Given the description of an element on the screen output the (x, y) to click on. 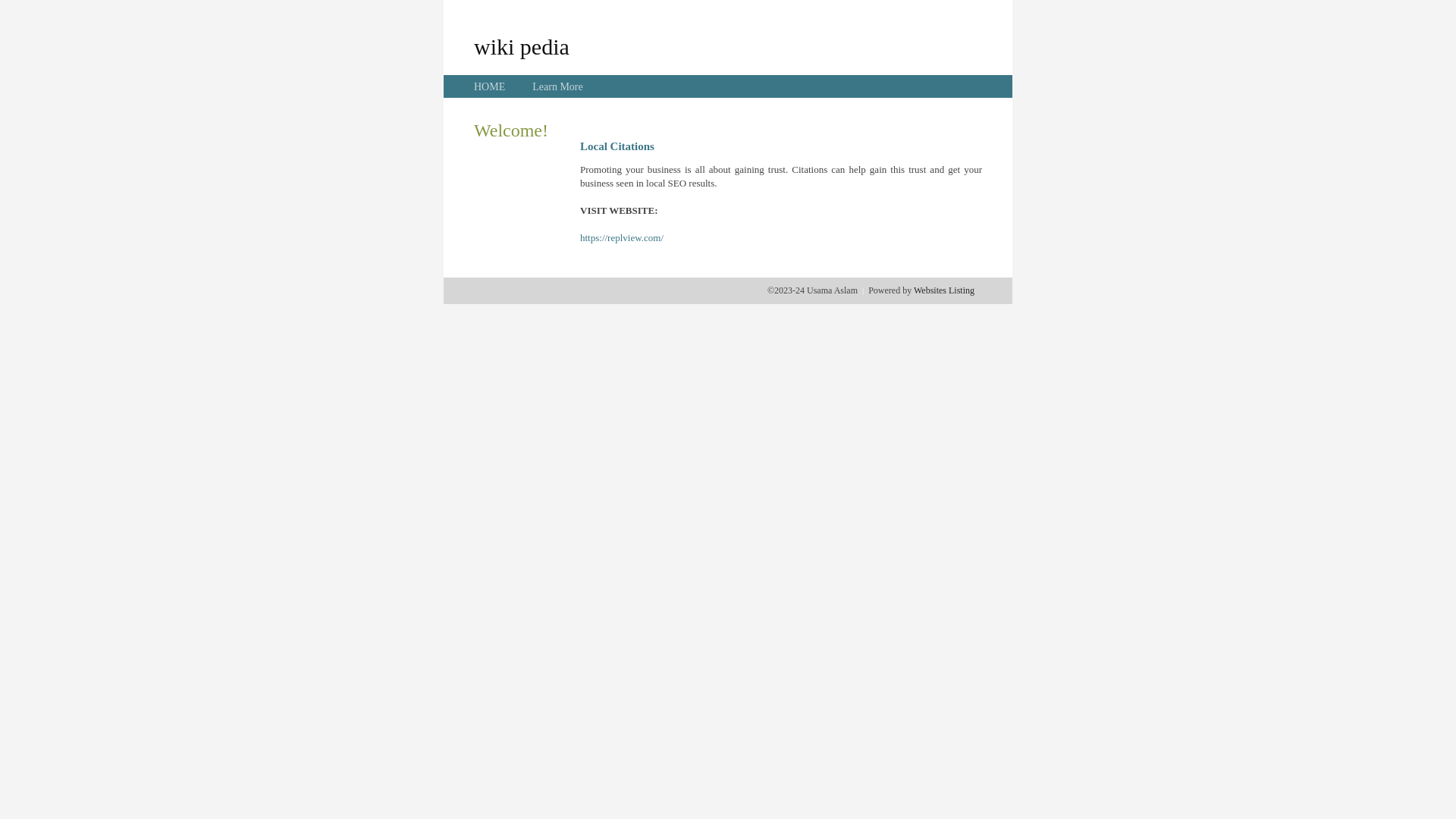
Learn More Element type: text (557, 86)
wiki pedia Element type: text (521, 46)
Websites Listing Element type: text (943, 290)
HOME Element type: text (489, 86)
https://replview.com/ Element type: text (621, 237)
